Given the description of an element on the screen output the (x, y) to click on. 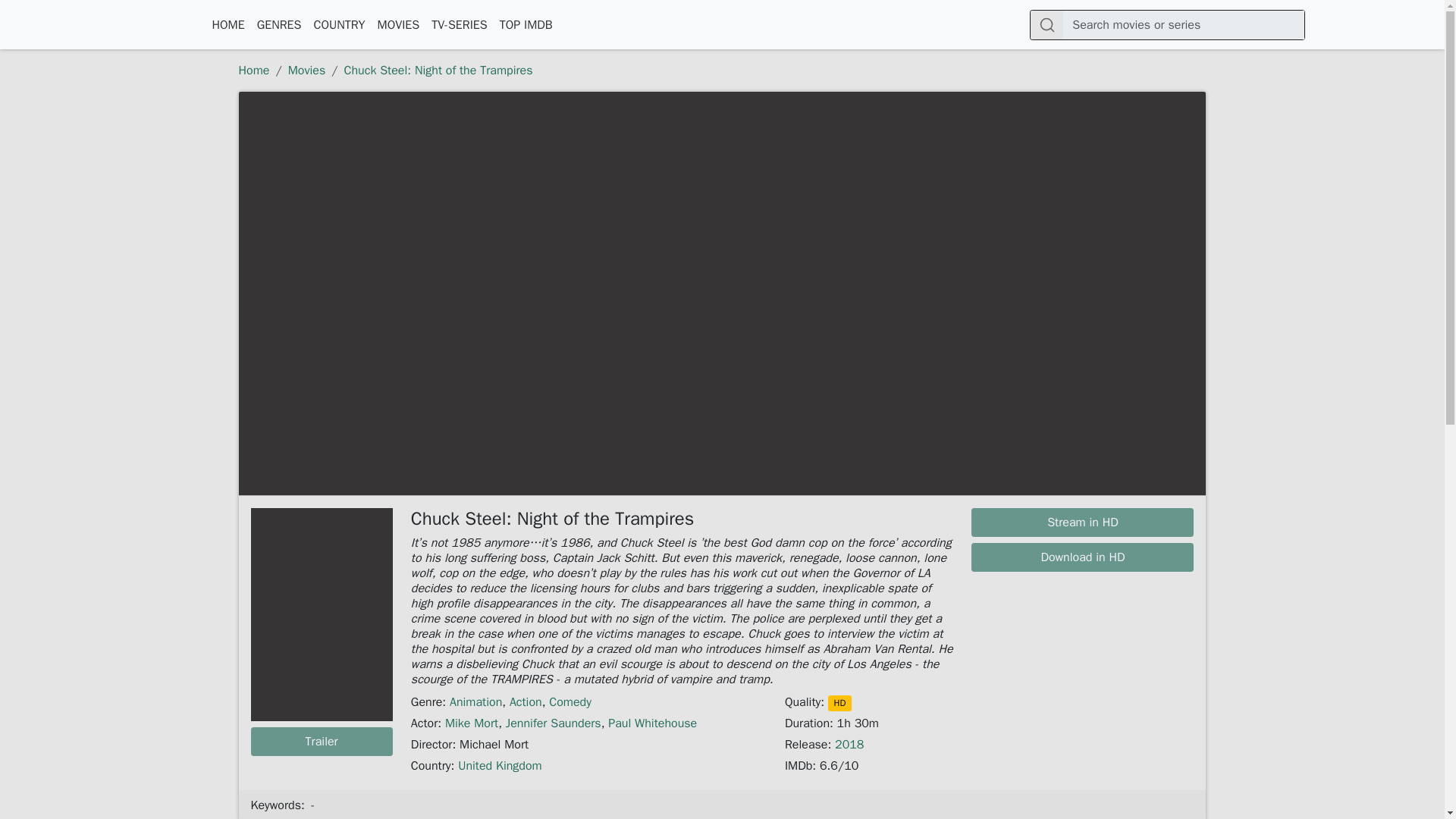
HOME (228, 24)
GENRES (278, 24)
